Given the description of an element on the screen output the (x, y) to click on. 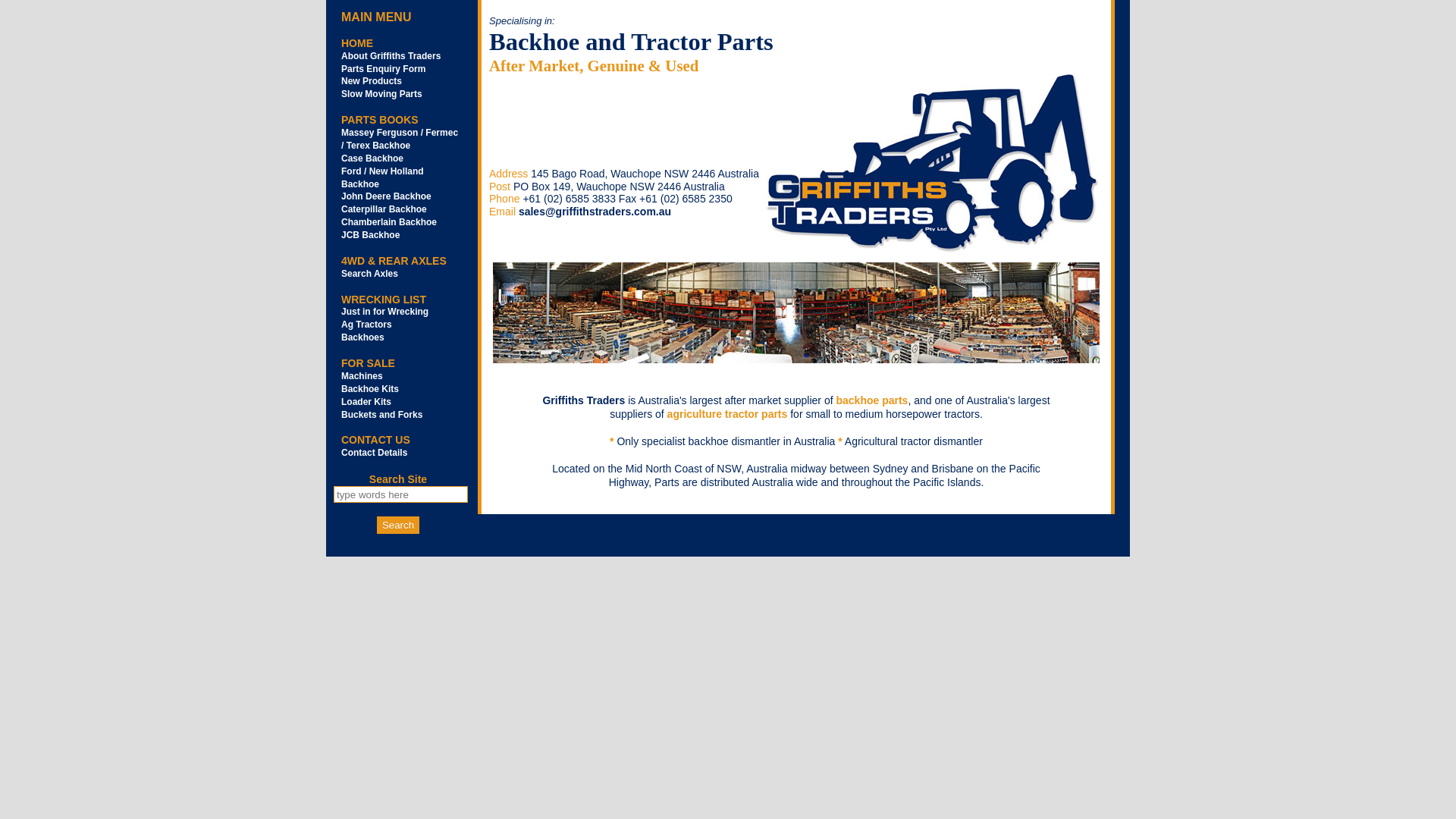
Search Element type: text (397, 524)
Ford / New Holland Backhoe Element type: text (382, 177)
About Griffiths Traders Element type: text (390, 55)
JCB Backhoe Element type: text (370, 234)
Buckets and Forks Element type: text (381, 414)
Chamberlain Backhoe Element type: text (388, 221)
Parts Enquiry Form Element type: text (383, 68)
Contact Details Element type: text (374, 452)
Machines Element type: text (361, 375)
banner Element type: hover (795, 312)
Ag Tractors Element type: text (366, 324)
Backhoes Element type: text (362, 337)
John Deere Backhoe Element type: text (386, 196)
New Products Element type: text (371, 80)
Slow Moving Parts Element type: text (381, 93)
Loader Kits Element type: text (366, 401)
Massey Ferguson / Fermec / Terex Backhoe Element type: text (399, 138)
Griffits Traders Element type: hover (929, 163)
HOME Element type: text (357, 43)
Backhoe Kits Element type: text (369, 388)
Caterpillar Backhoe Element type: text (383, 208)
Just in for Wrecking Element type: text (384, 311)
Case Backhoe Element type: text (372, 158)
sales@griffithstraders.com.au Element type: text (594, 211)
Search Axles Element type: text (369, 273)
